Given the description of an element on the screen output the (x, y) to click on. 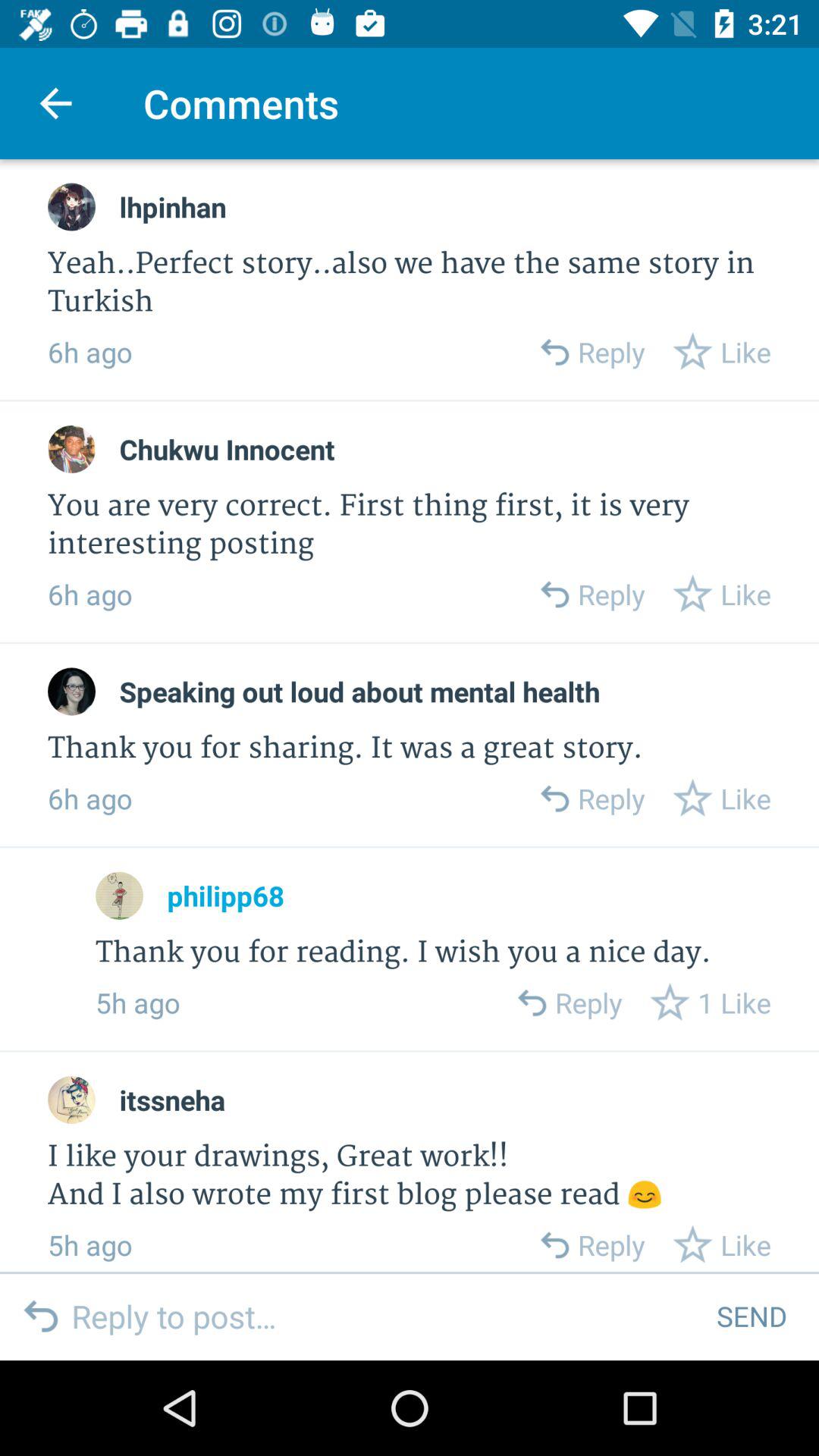
turn off the lhpinhan item (172, 206)
